Given the description of an element on the screen output the (x, y) to click on. 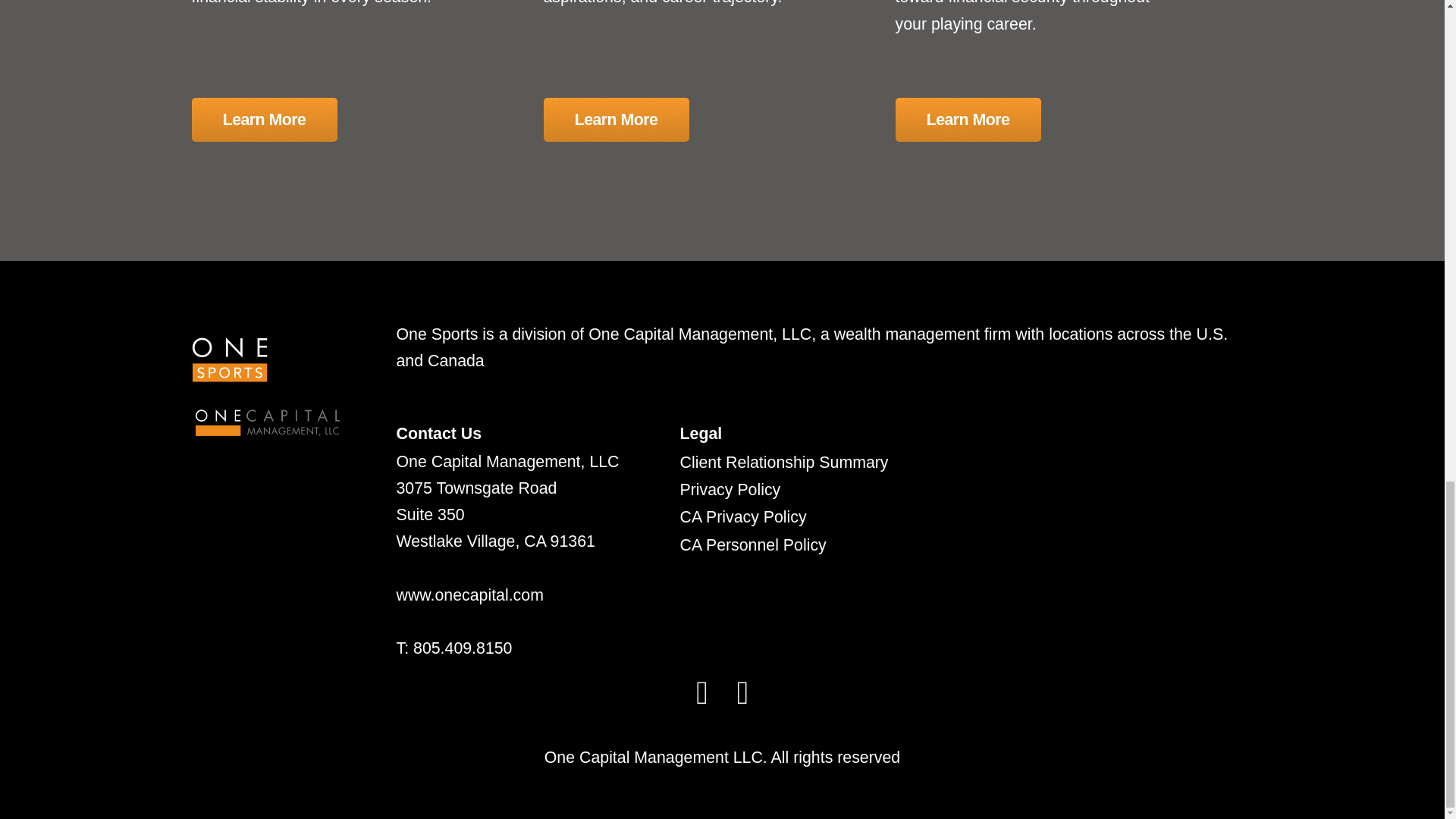
www.onecapital.com (469, 595)
Learn More (615, 119)
CA Personnel Policy (753, 544)
Client Relationship Summary (783, 462)
Learn More (263, 119)
Learn More (968, 119)
Privacy Policy (729, 489)
CA Privacy Policy (742, 516)
